Given the description of an element on the screen output the (x, y) to click on. 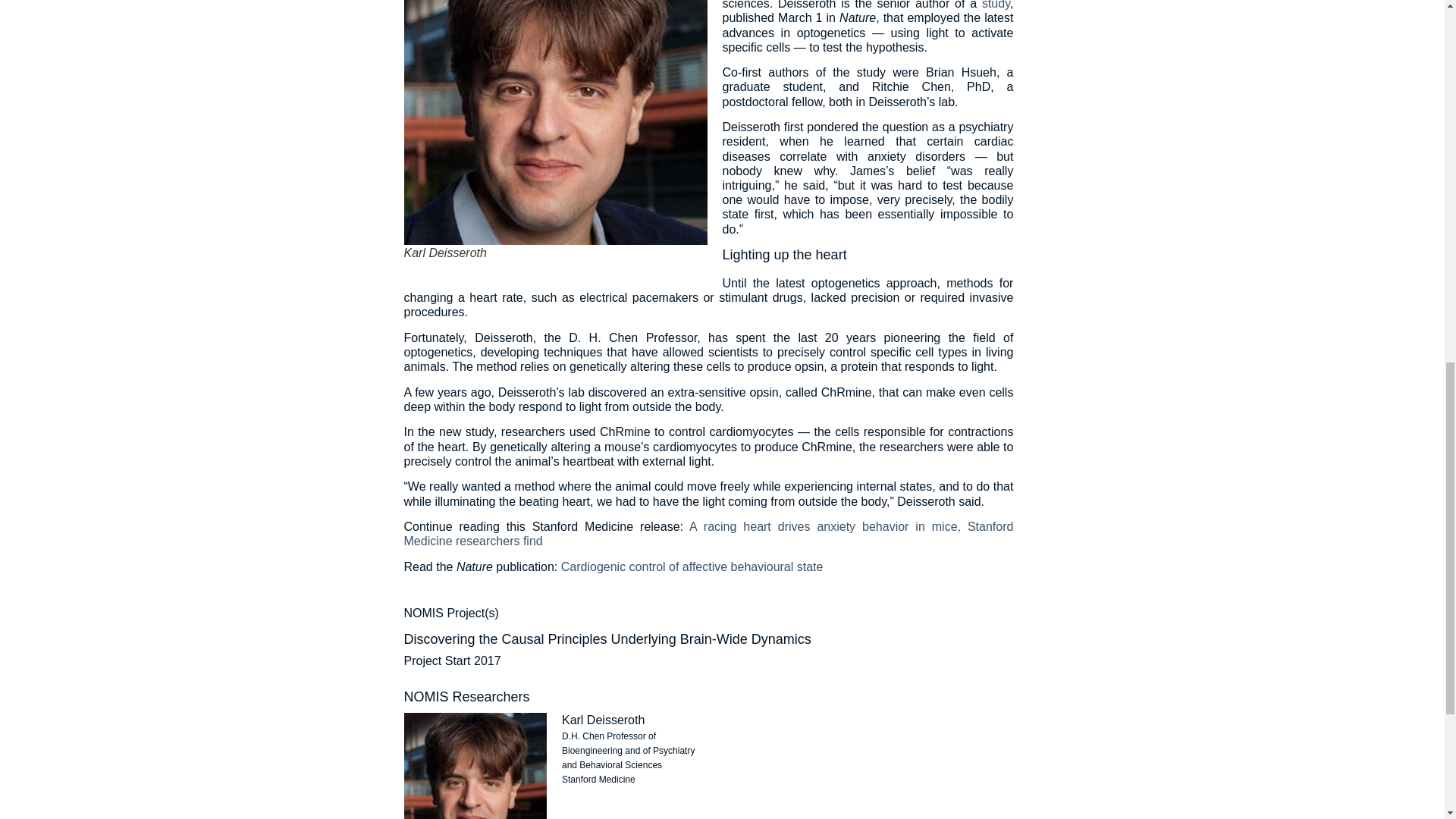
study (995, 4)
Cardiogenic control of affective behavioural state (692, 566)
Karl Deisseroth (603, 719)
